Given the description of an element on the screen output the (x, y) to click on. 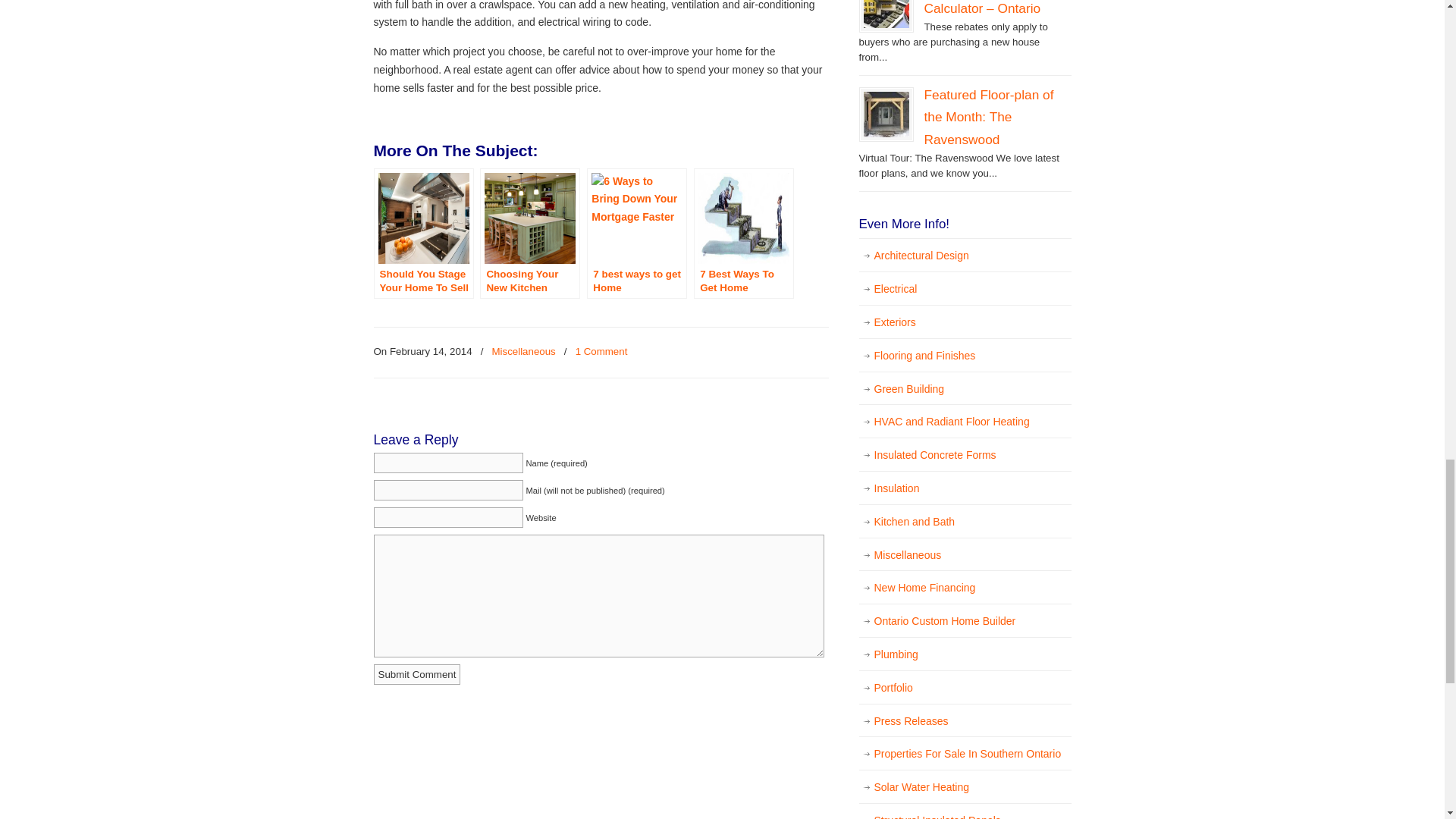
Submit Comment (416, 674)
Miscellaneous (523, 352)
Submit Comment (416, 674)
1 Comment (601, 352)
